Given the description of an element on the screen output the (x, y) to click on. 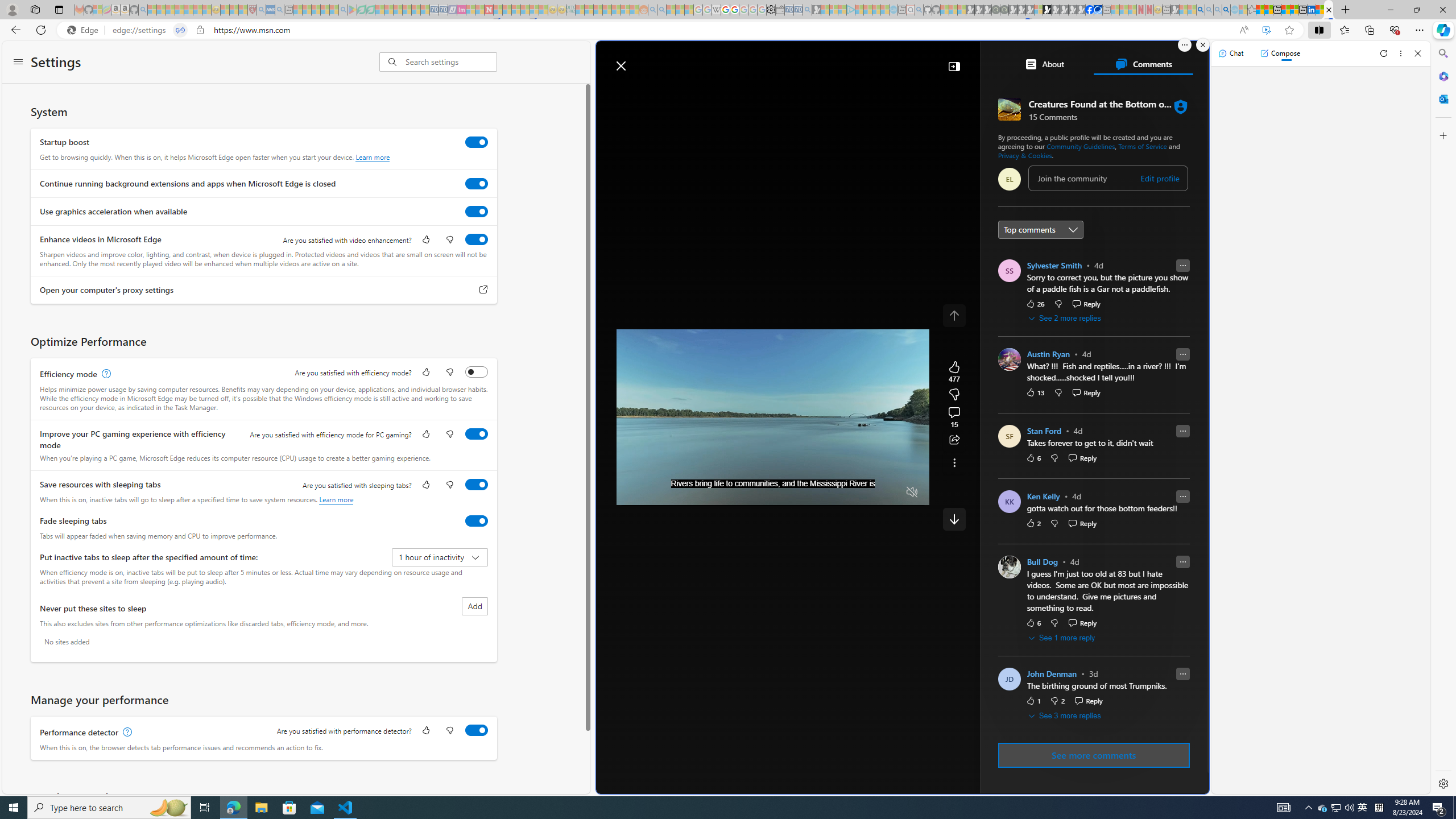
Like (425, 731)
Enhance video (1266, 29)
See more comments (1093, 755)
Startup boost (476, 142)
Search settings (451, 61)
Class: control (954, 518)
Learn more (335, 499)
Use graphics acceleration when available (476, 211)
13 Like (1034, 392)
